Given the description of an element on the screen output the (x, y) to click on. 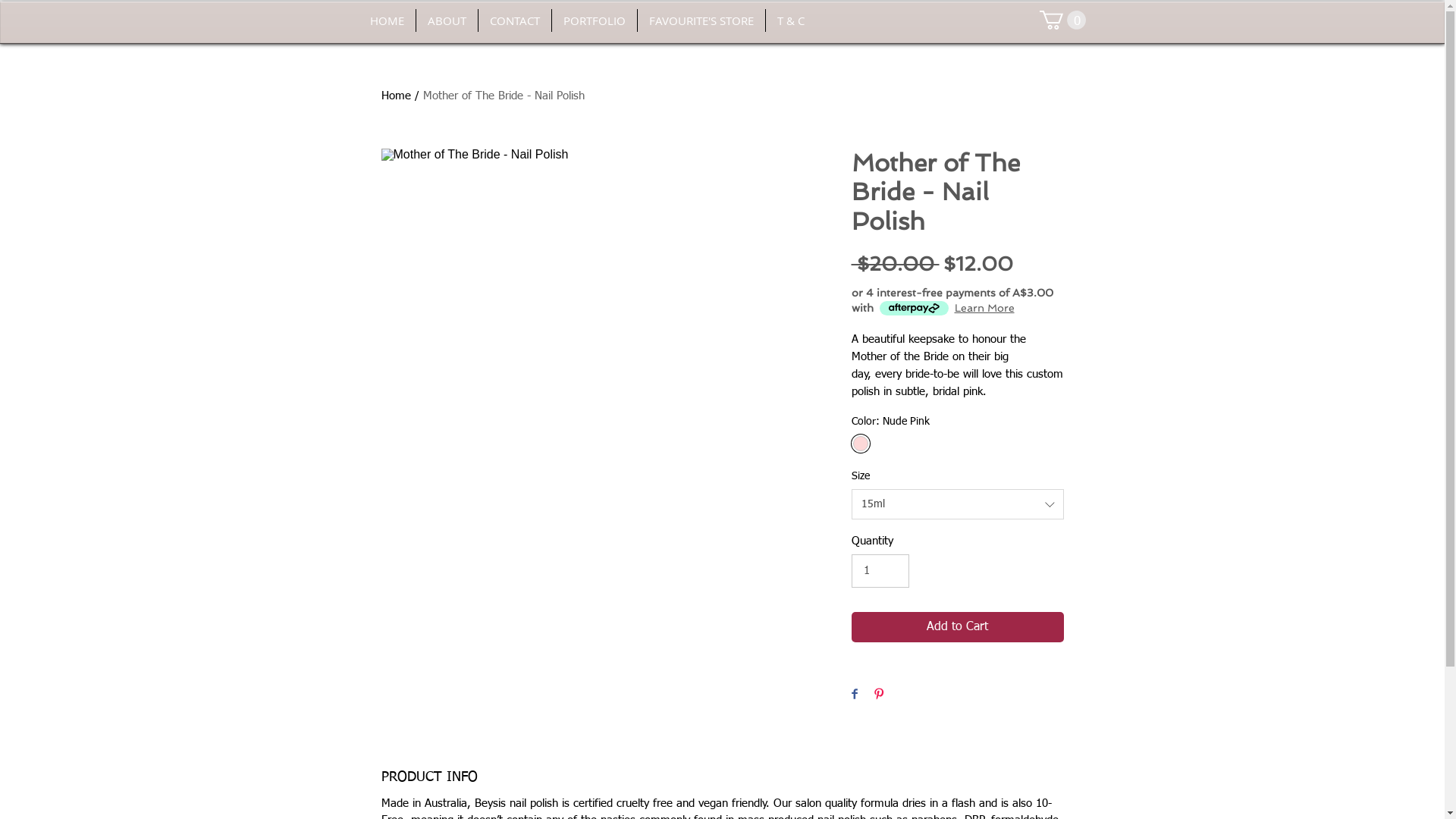
Home Element type: text (395, 95)
15ml Element type: text (956, 504)
Add to Cart Element type: text (956, 626)
0 Element type: text (1061, 19)
FAVOURITE'S STORE Element type: text (700, 20)
Mother of The Bride - Nail Polish Element type: text (503, 95)
ABOUT Element type: text (445, 20)
HOME Element type: text (385, 20)
T & C Element type: text (790, 20)
CONTACT Element type: text (513, 20)
PORTFOLIO Element type: text (594, 20)
Learn More Element type: text (983, 307)
